Given the description of an element on the screen output the (x, y) to click on. 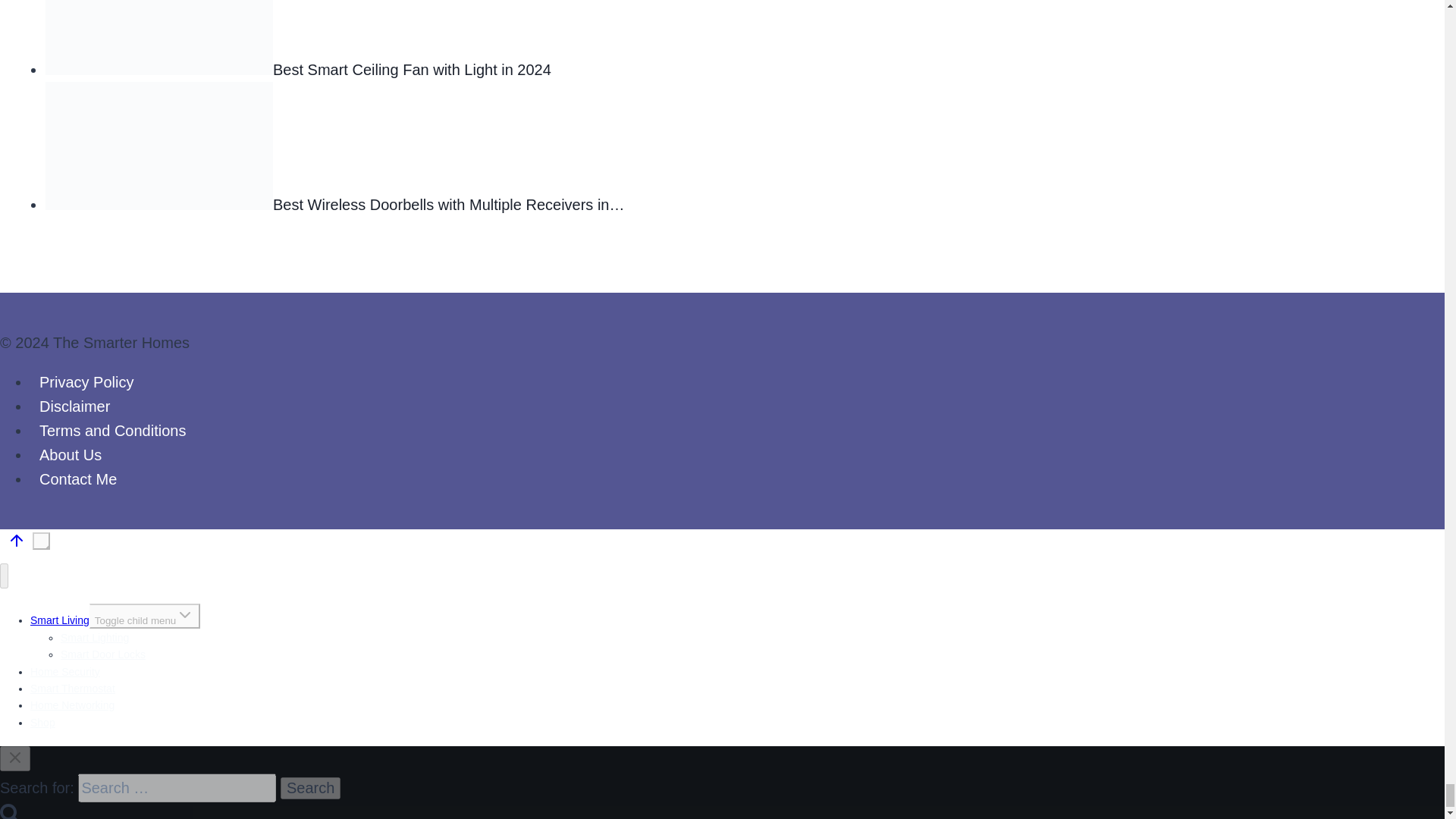
Scroll to top (16, 540)
Search (10, 810)
Scroll to top (16, 542)
Scroll to top (50, 549)
Search (310, 788)
Scroll to top (40, 540)
Search (310, 788)
Expand (184, 614)
Toggle Menu Close (14, 757)
